Given the description of an element on the screen output the (x, y) to click on. 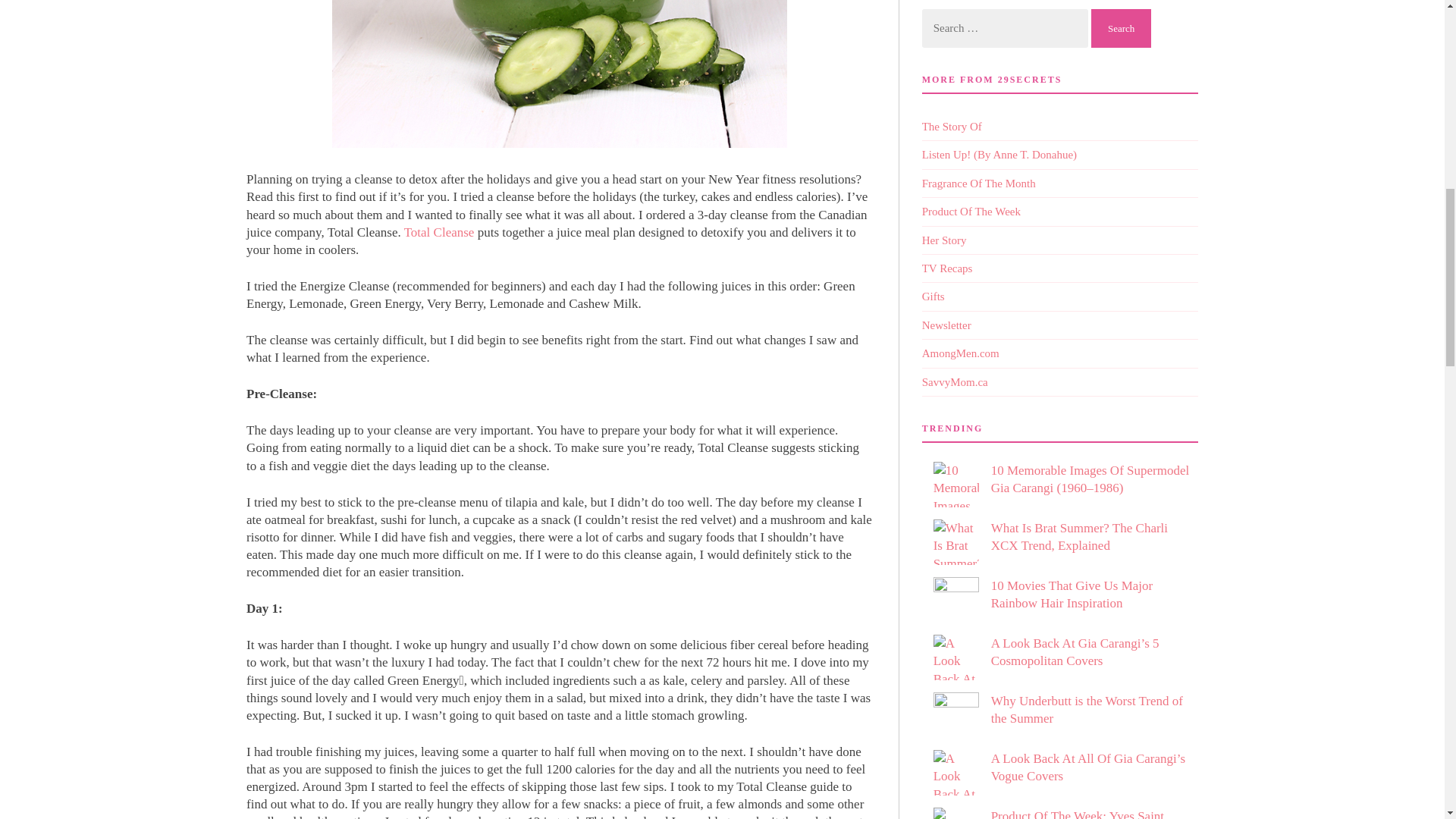
Total Cleanse (439, 164)
Total Cleanse (398, 809)
total cleanse (439, 164)
